Given the description of an element on the screen output the (x, y) to click on. 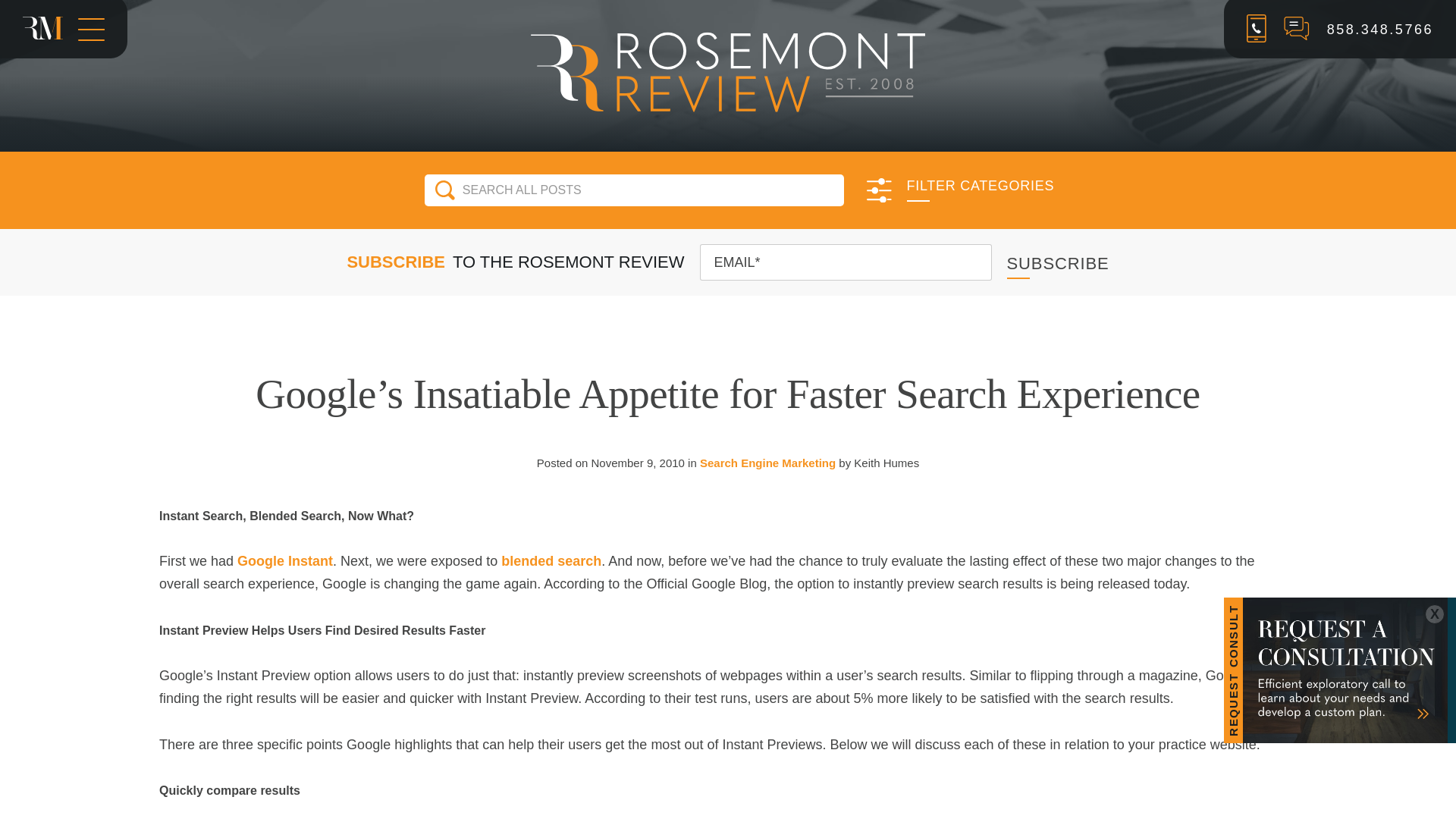
Subscribe (1058, 262)
Rosemont Review (727, 72)
858.348.5766 (1379, 29)
search (444, 189)
